Given the description of an element on the screen output the (x, y) to click on. 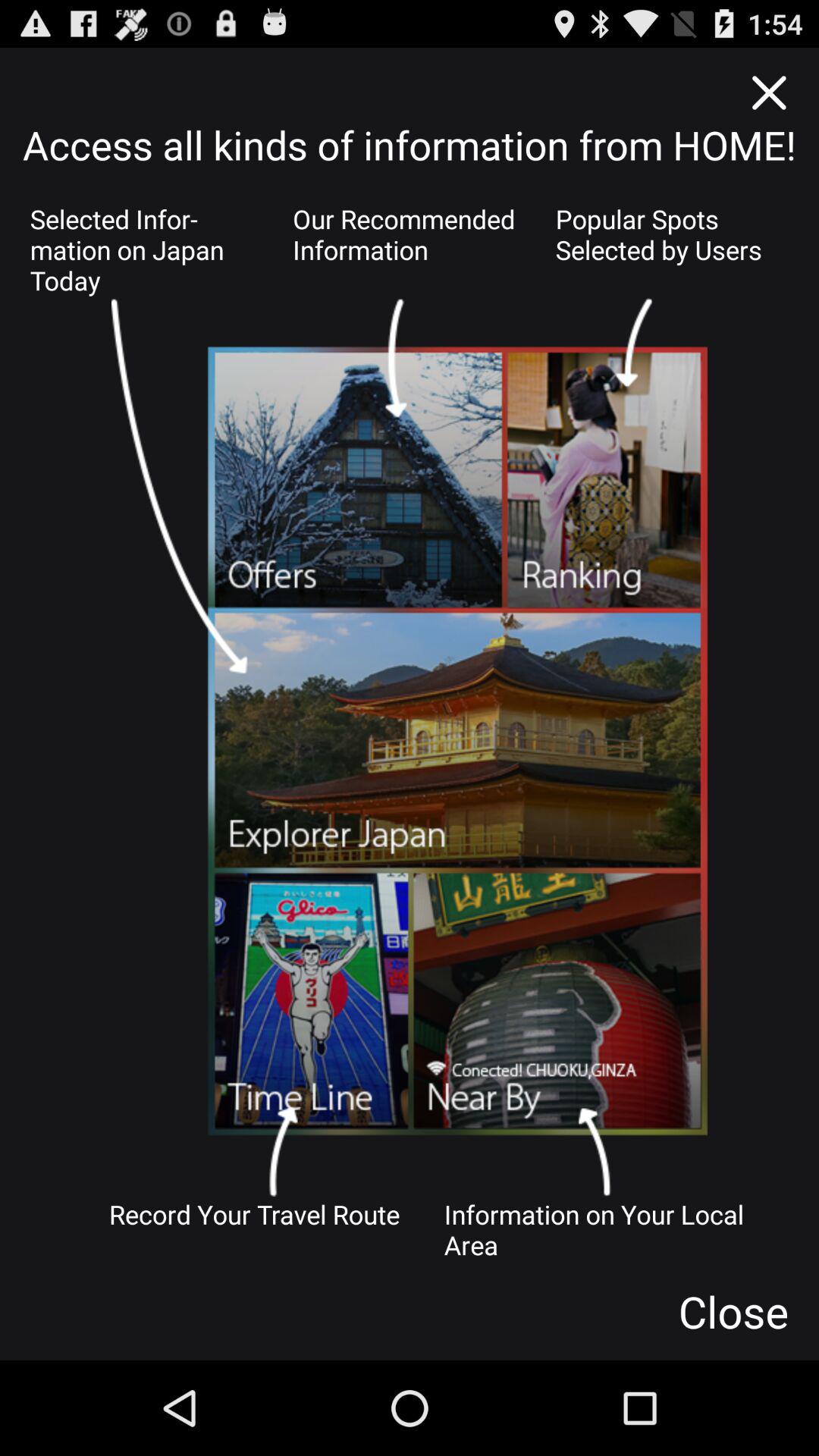
turn on app below the information on your icon (733, 1311)
